Given the description of an element on the screen output the (x, y) to click on. 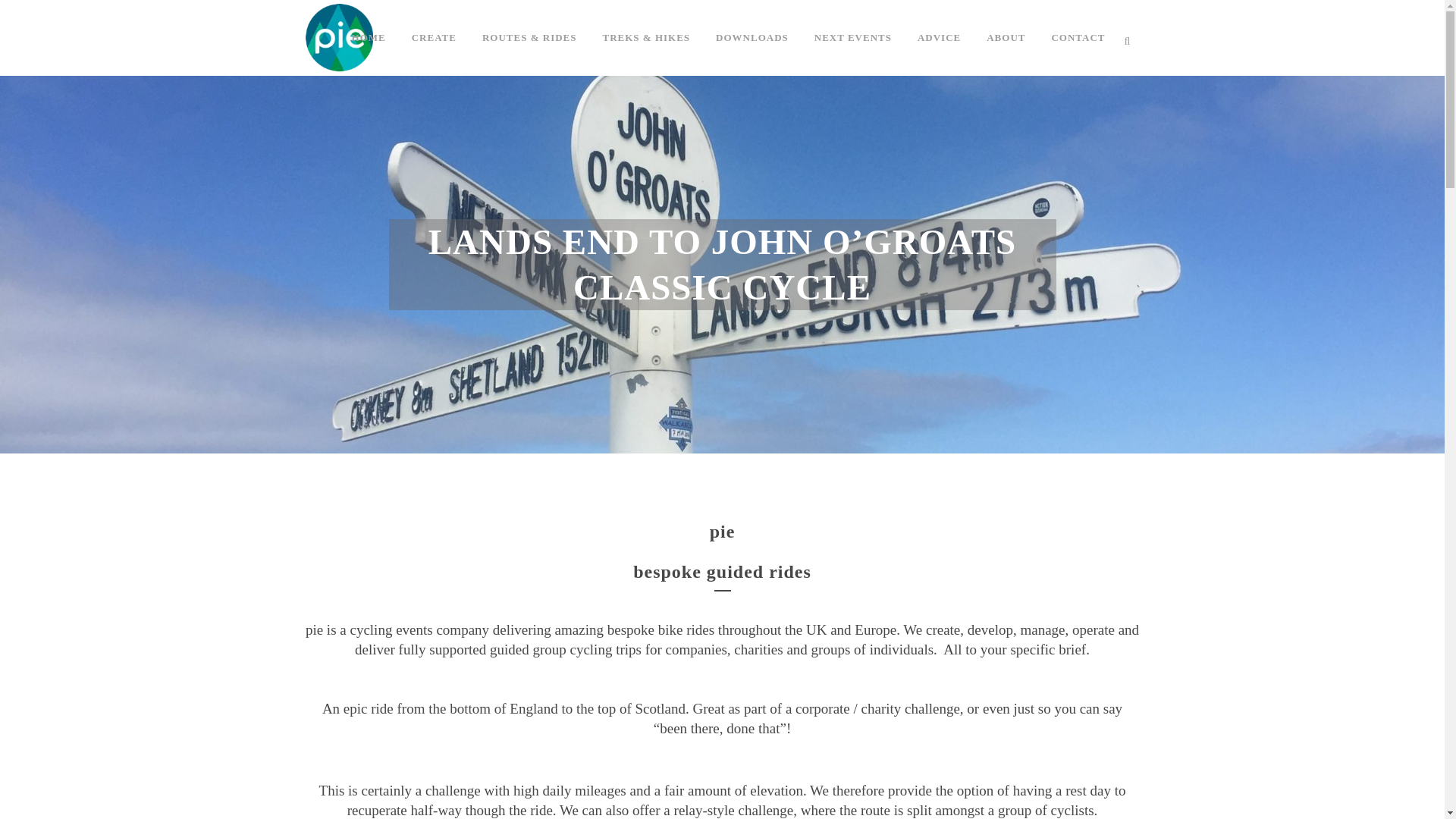
CREATE (433, 38)
